Given the description of an element on the screen output the (x, y) to click on. 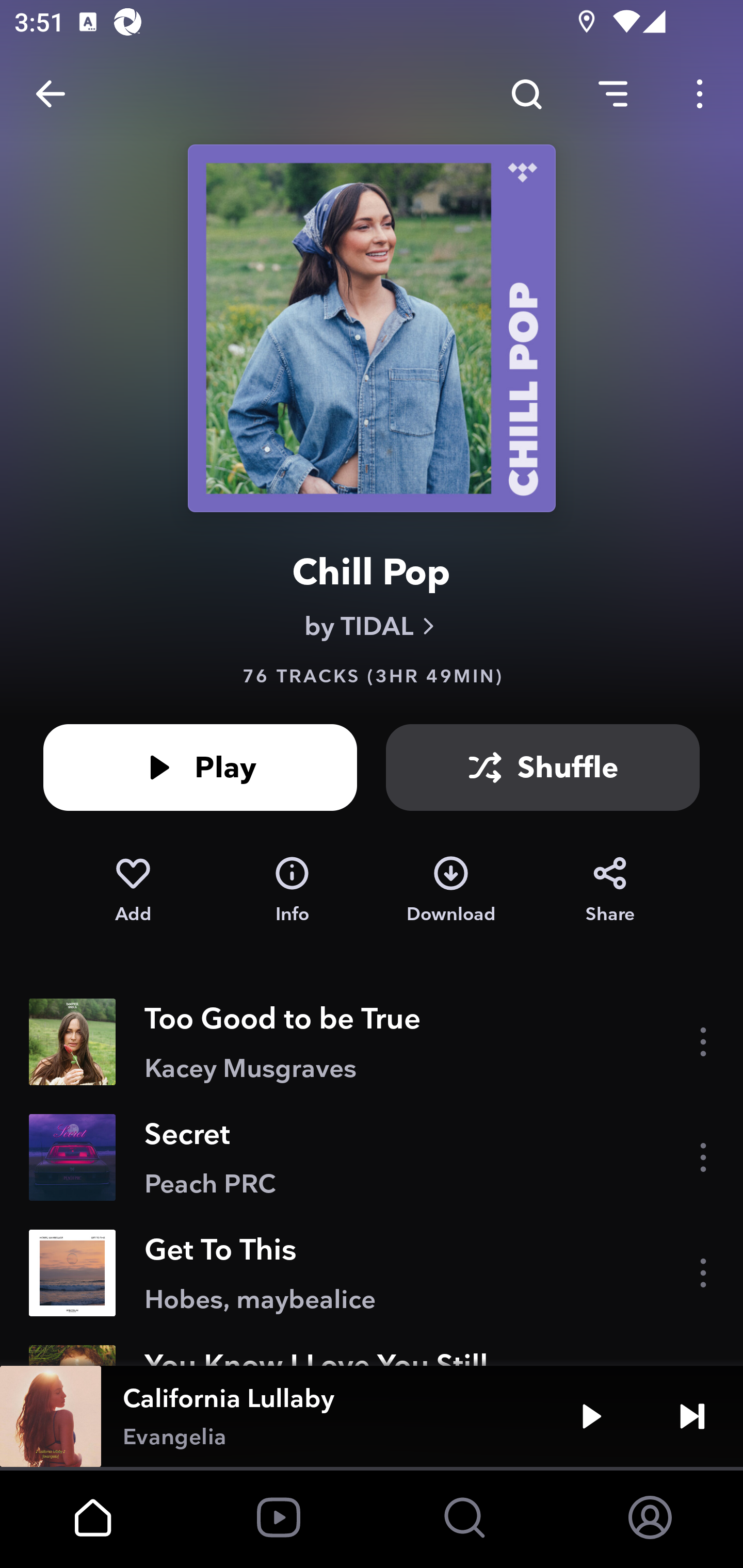
Back (50, 93)
Search (525, 93)
Sorting (612, 93)
Options (699, 93)
by TIDAL (371, 625)
Play (200, 767)
Shuffle (542, 767)
Add (132, 890)
Info (291, 890)
Download (450, 890)
Share (609, 890)
Too Good to be True Kacey Musgraves (371, 1041)
Secret Peach PRC (371, 1157)
Get To This Hobes, maybealice (371, 1273)
California Lullaby Evangelia Play (371, 1416)
Play (590, 1416)
